Given the description of an element on the screen output the (x, y) to click on. 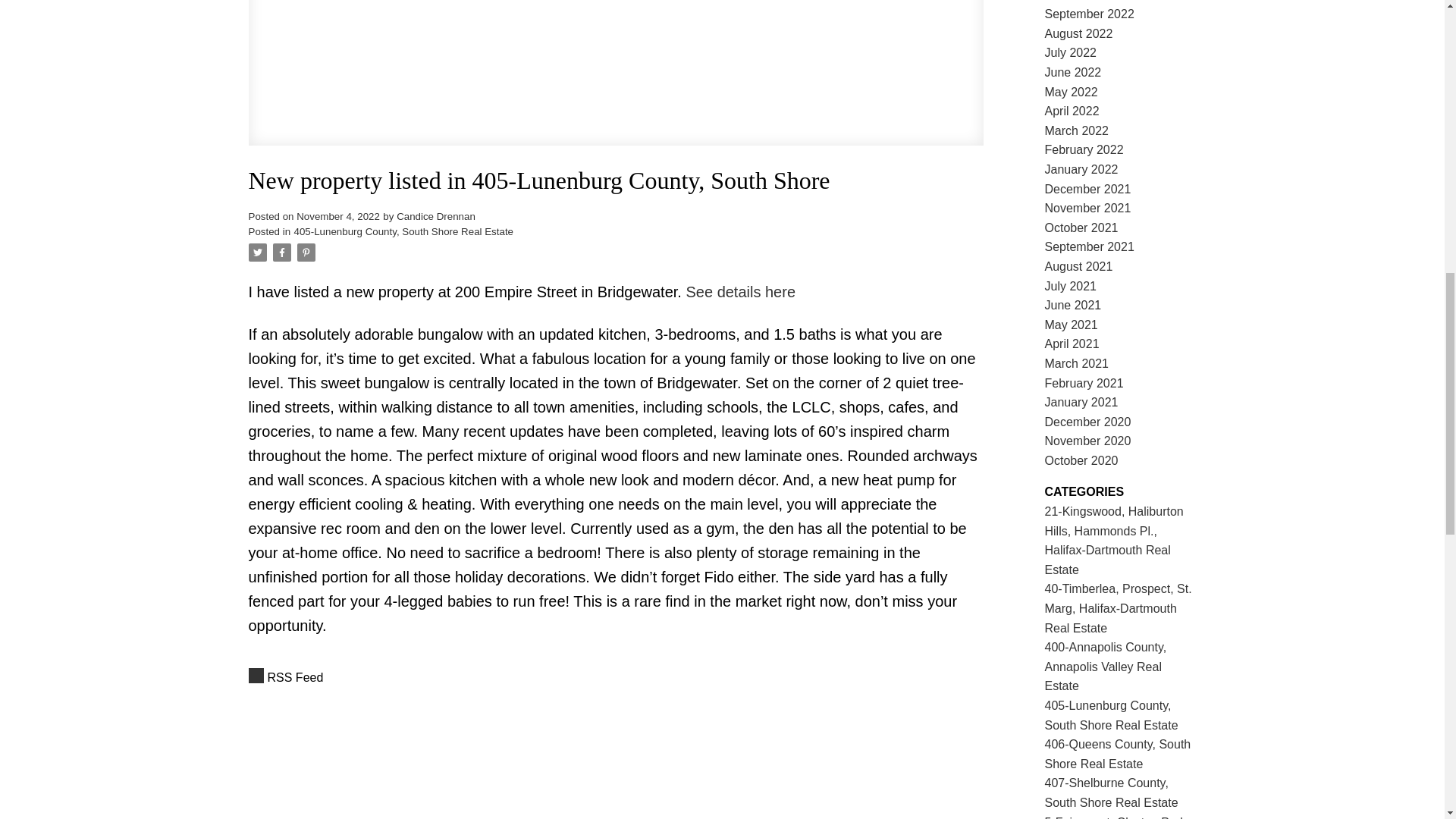
RSS (616, 677)
See details here (739, 291)
405-Lunenburg County, South Shore Real Estate (403, 231)
